Given the description of an element on the screen output the (x, y) to click on. 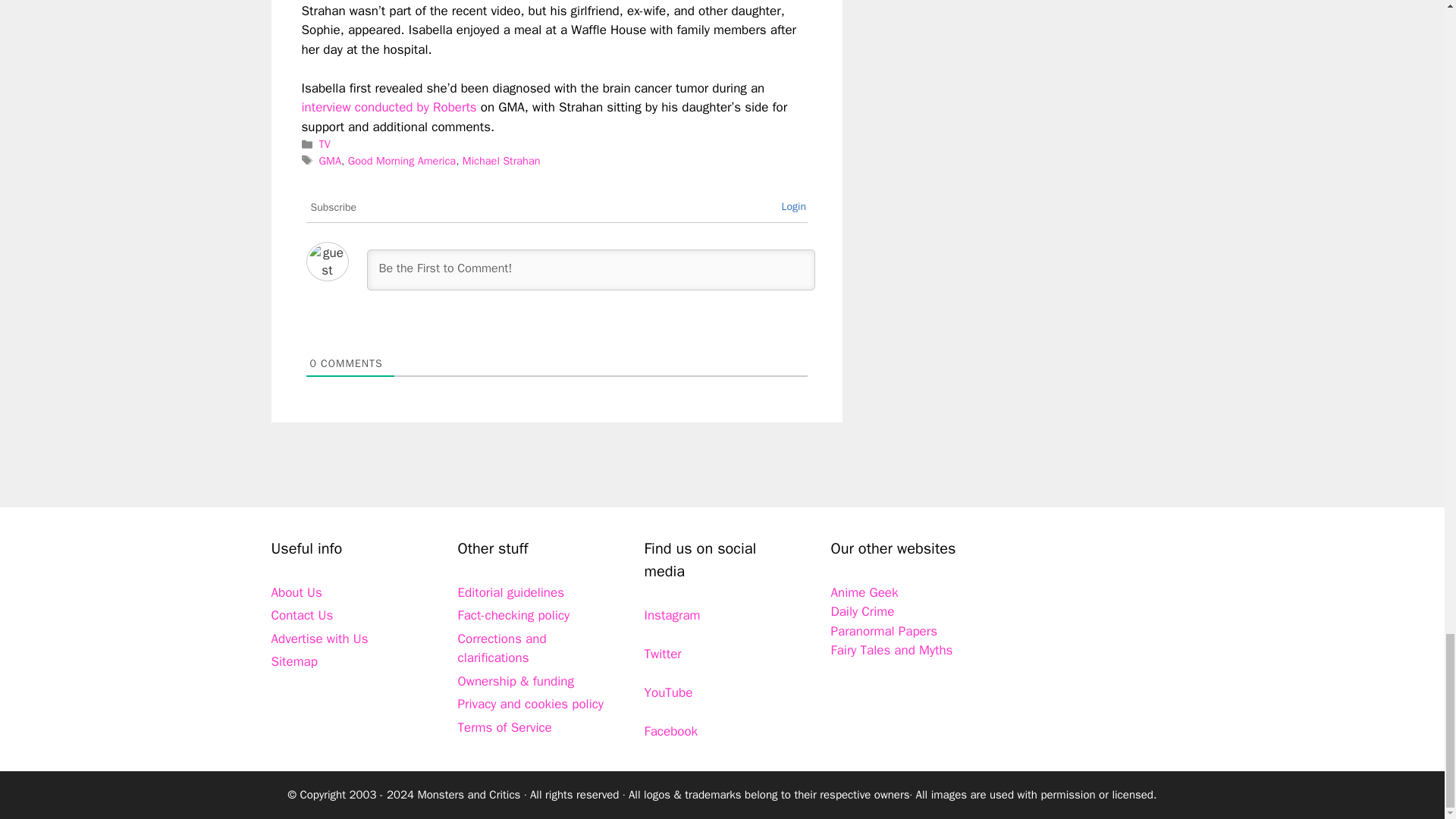
Editorial guidelines (511, 592)
Advertise with Us (319, 638)
Fact-checking policy (514, 615)
Sitemap (293, 661)
Good Morning America (401, 160)
About Us (295, 592)
Michael Strahan (501, 160)
Corrections and clarifications (502, 648)
GMA (329, 160)
Contact Us (301, 615)
